Given the description of an element on the screen output the (x, y) to click on. 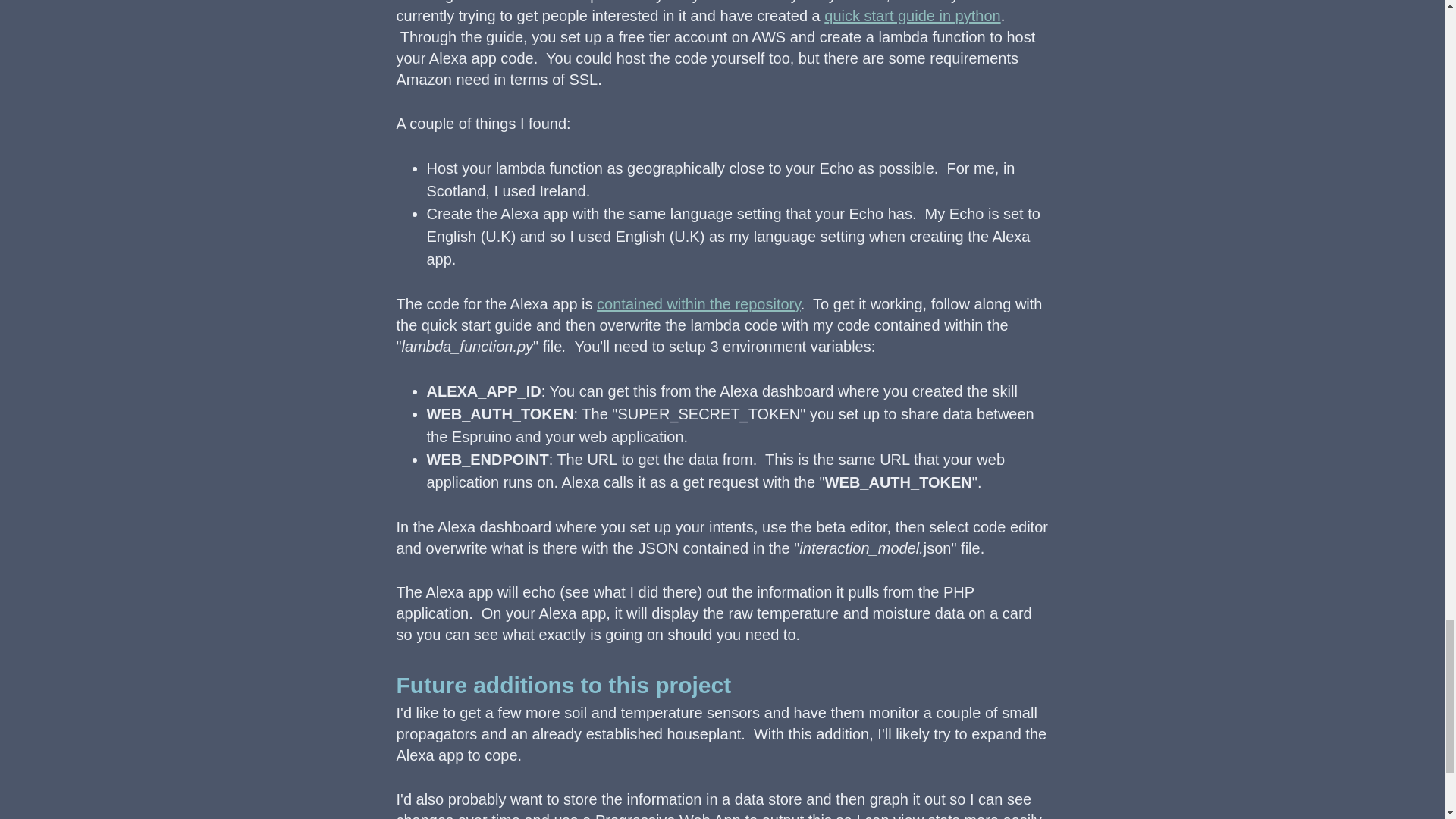
quick start guide in python (912, 15)
contained within the repository (698, 303)
